Given the description of an element on the screen output the (x, y) to click on. 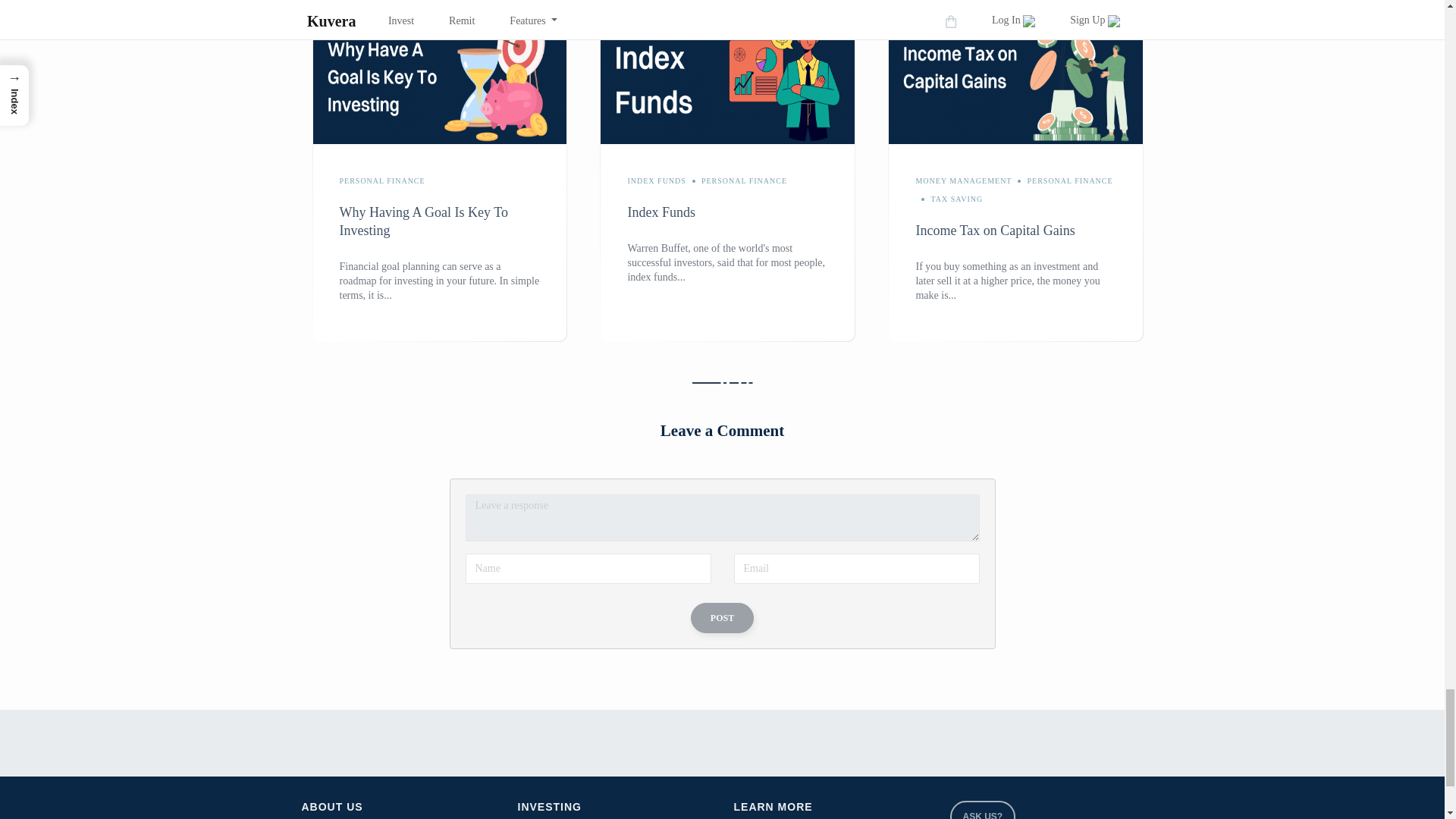
POST (722, 617)
